Given the description of an element on the screen output the (x, y) to click on. 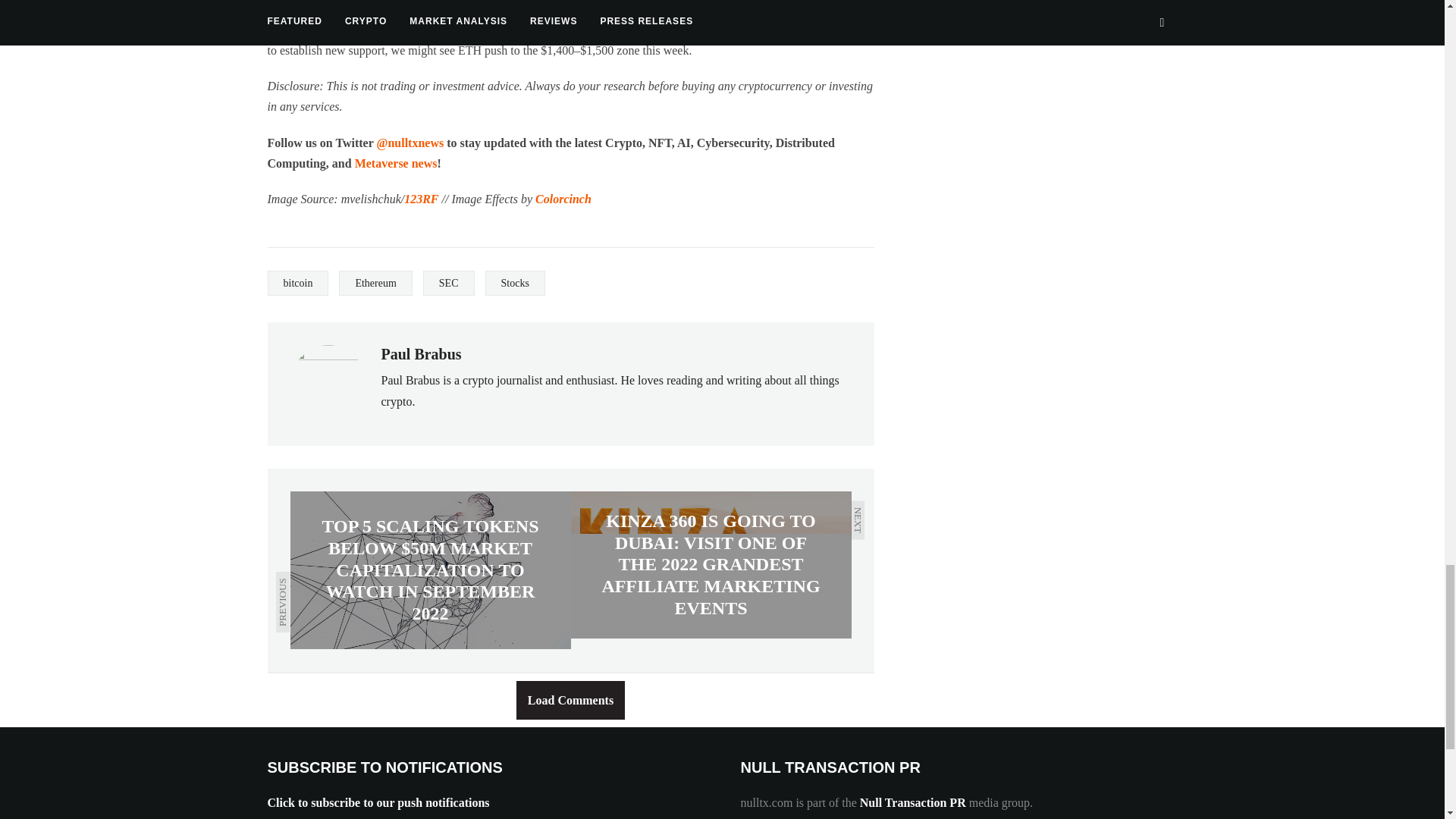
SEC (448, 283)
Ethereum (375, 283)
123RF (421, 198)
bitcoin (297, 283)
Colorcinch (563, 198)
Posts by Paul Brabus (420, 353)
Paul Brabus (420, 353)
Stocks (514, 283)
